Given the description of an element on the screen output the (x, y) to click on. 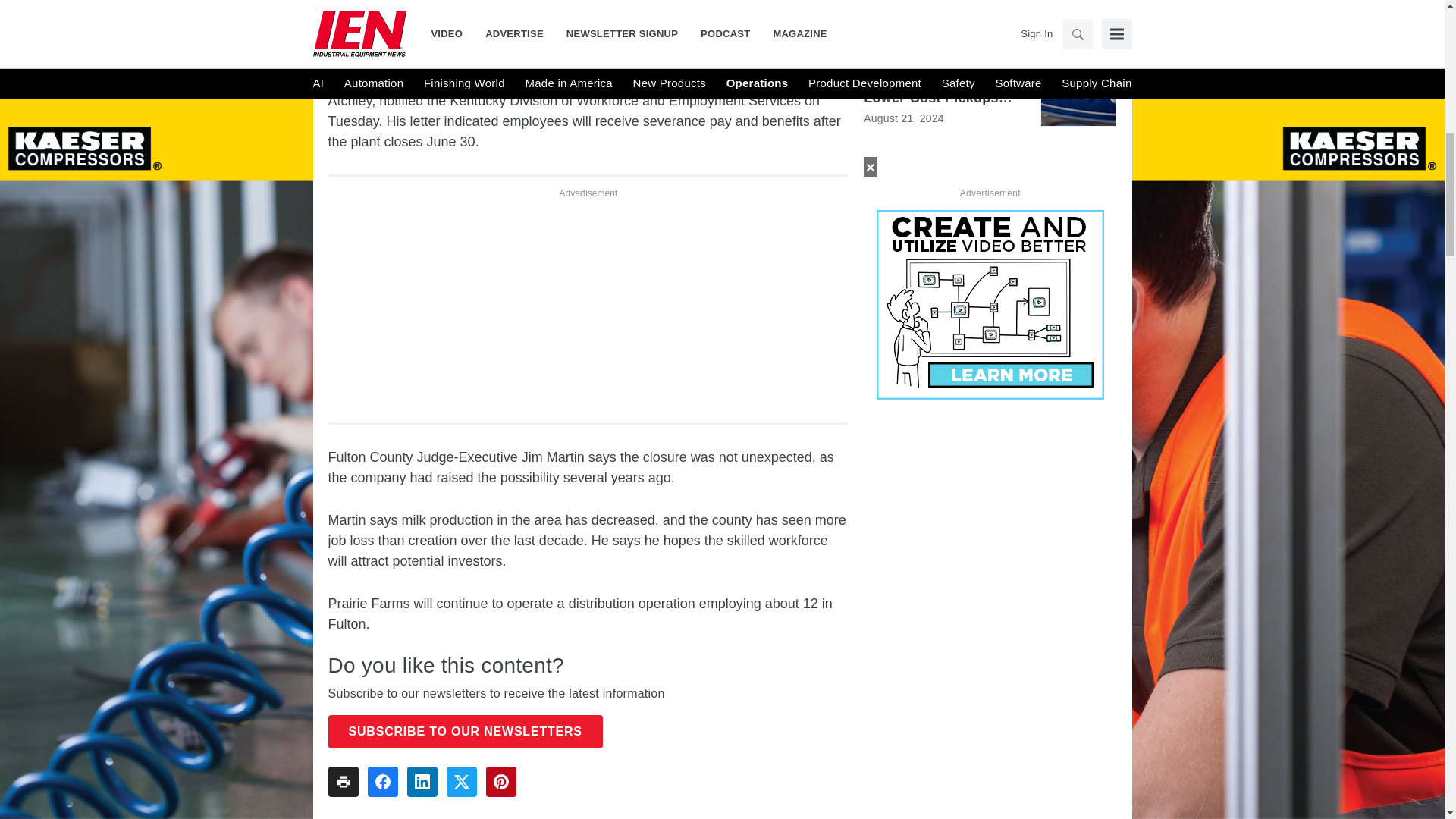
Share To facebook (381, 781)
3rd party ad content (587, 304)
Share To linkedin (421, 781)
Share To print (342, 781)
